Given the description of an element on the screen output the (x, y) to click on. 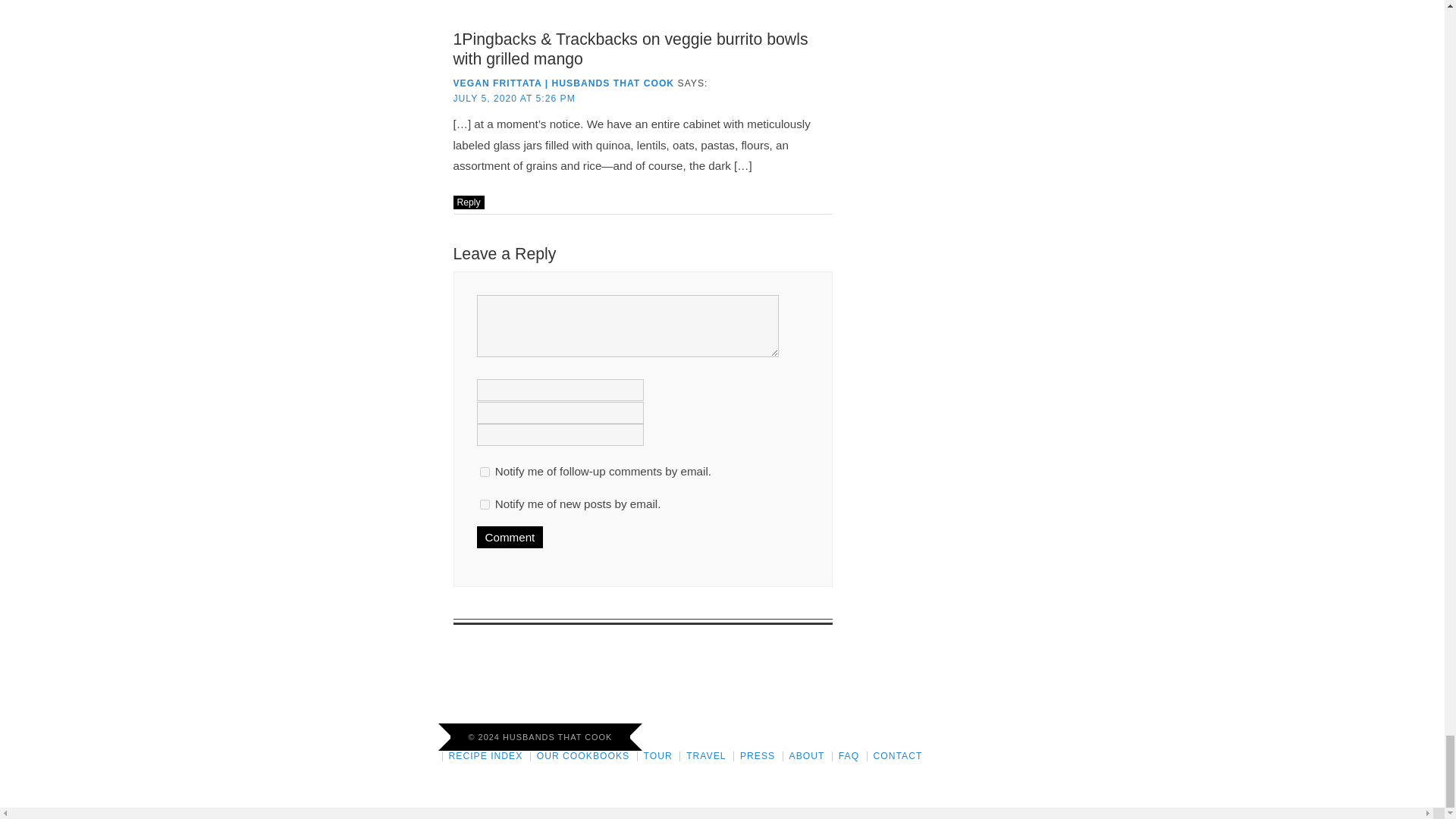
Comment (509, 536)
subscribe (484, 471)
subscribe (484, 504)
